Given the description of an element on the screen output the (x, y) to click on. 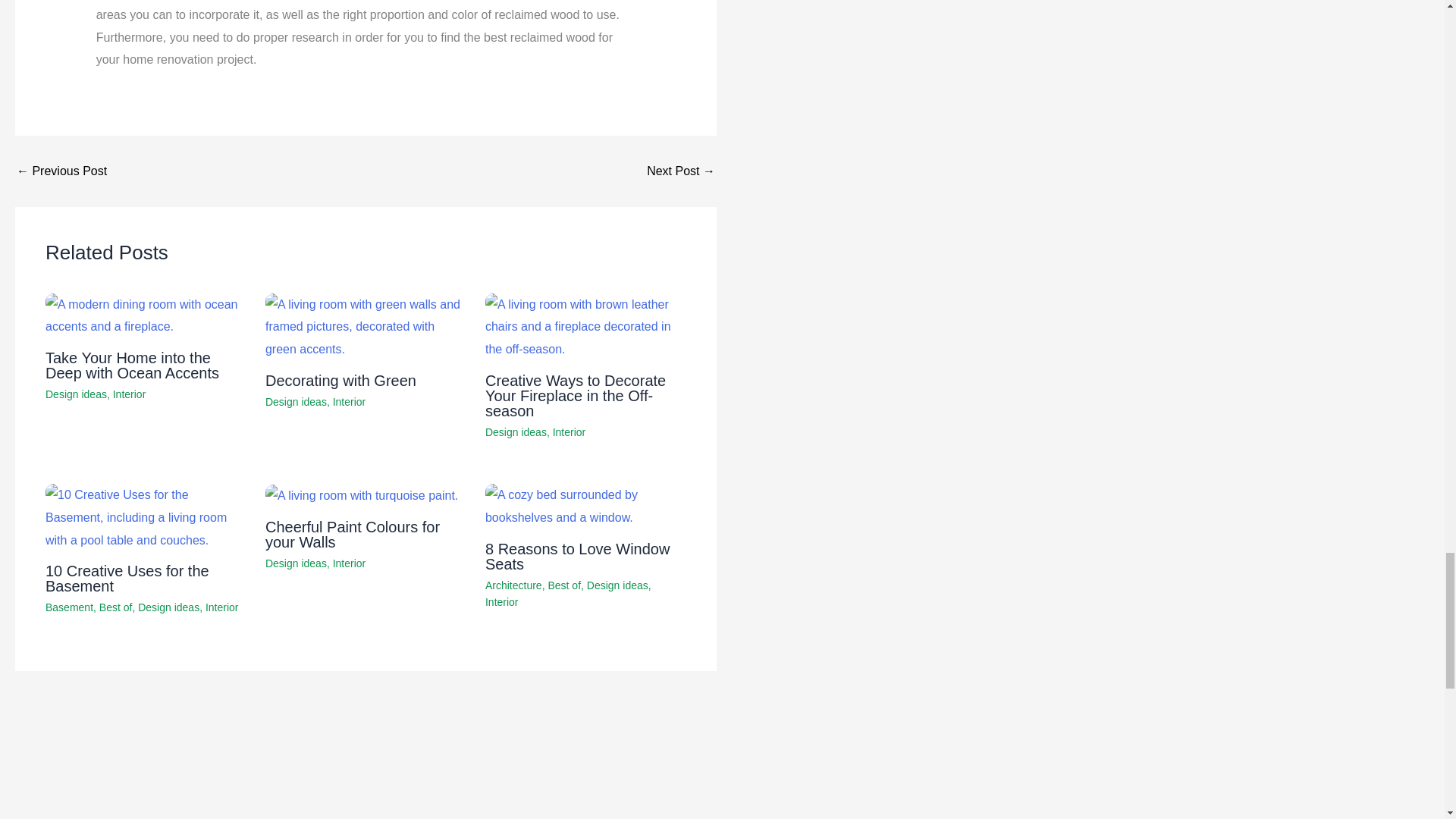
Industrial Kitchen Designs (61, 171)
Tips For Drilling Safety When Using A Cordless Drill (680, 171)
